Given the description of an element on the screen output the (x, y) to click on. 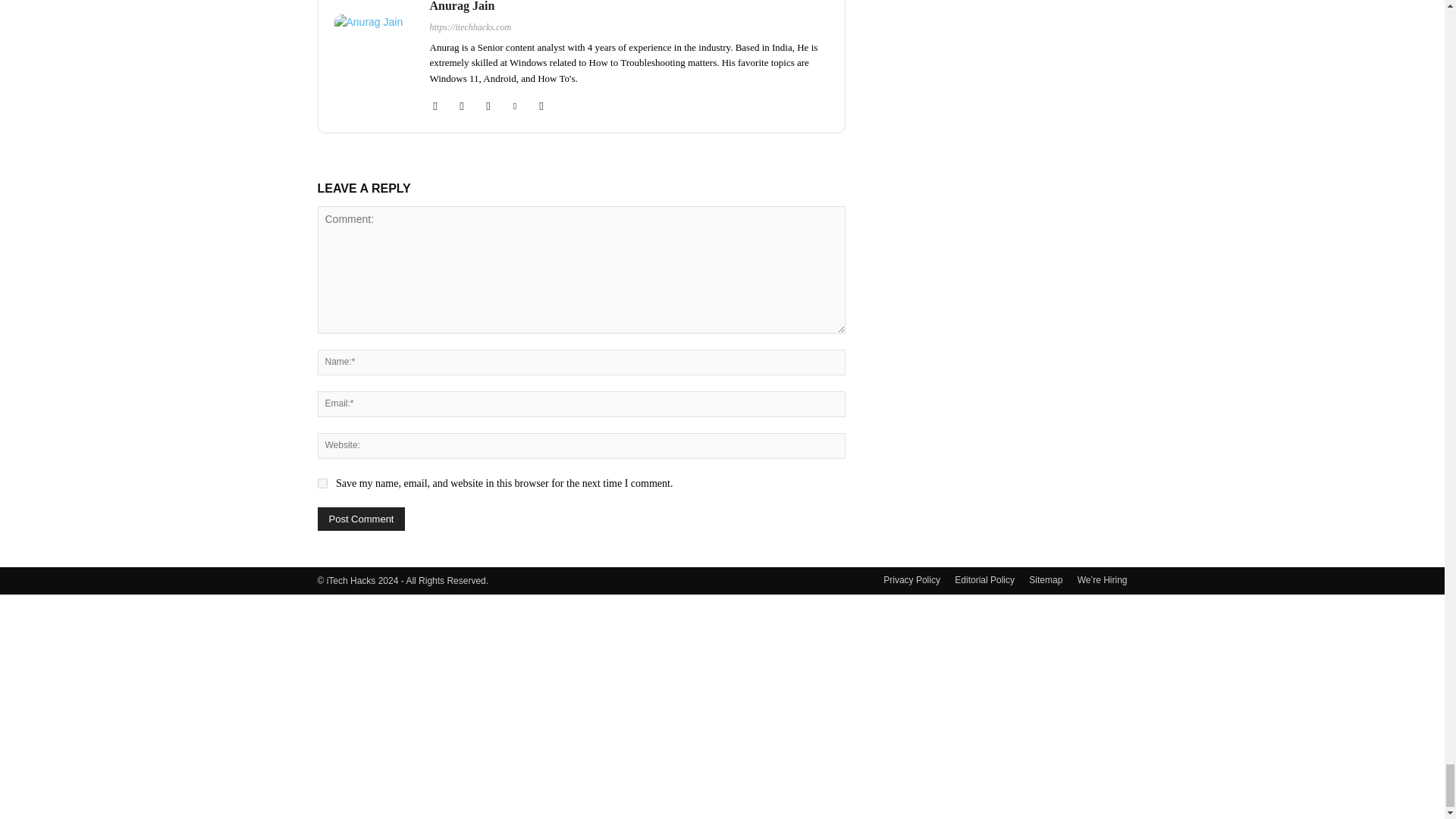
Post Comment (360, 518)
yes (321, 483)
